Given the description of an element on the screen output the (x, y) to click on. 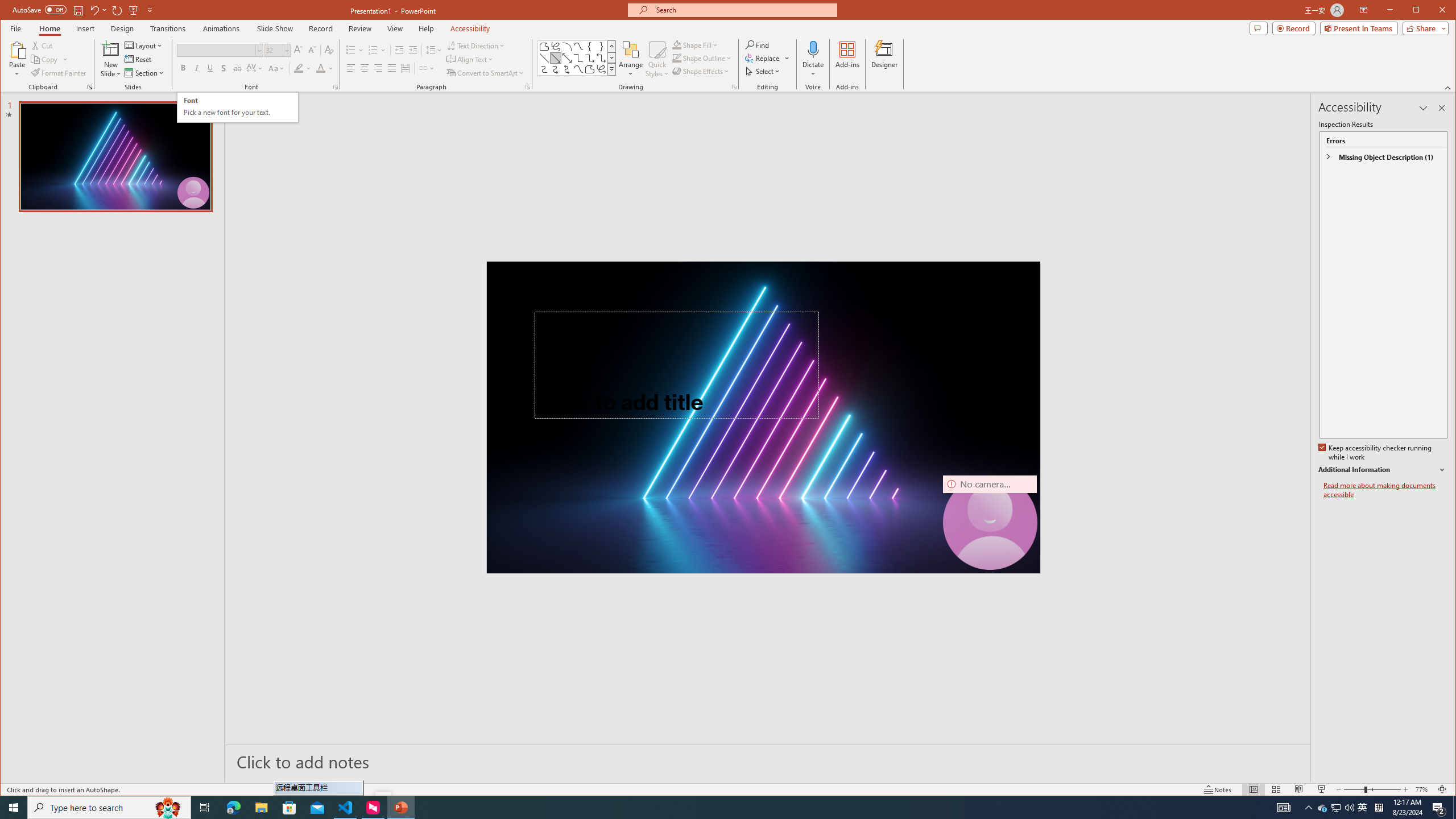
Subtitle TextBox (649, 466)
